Given the description of an element on the screen output the (x, y) to click on. 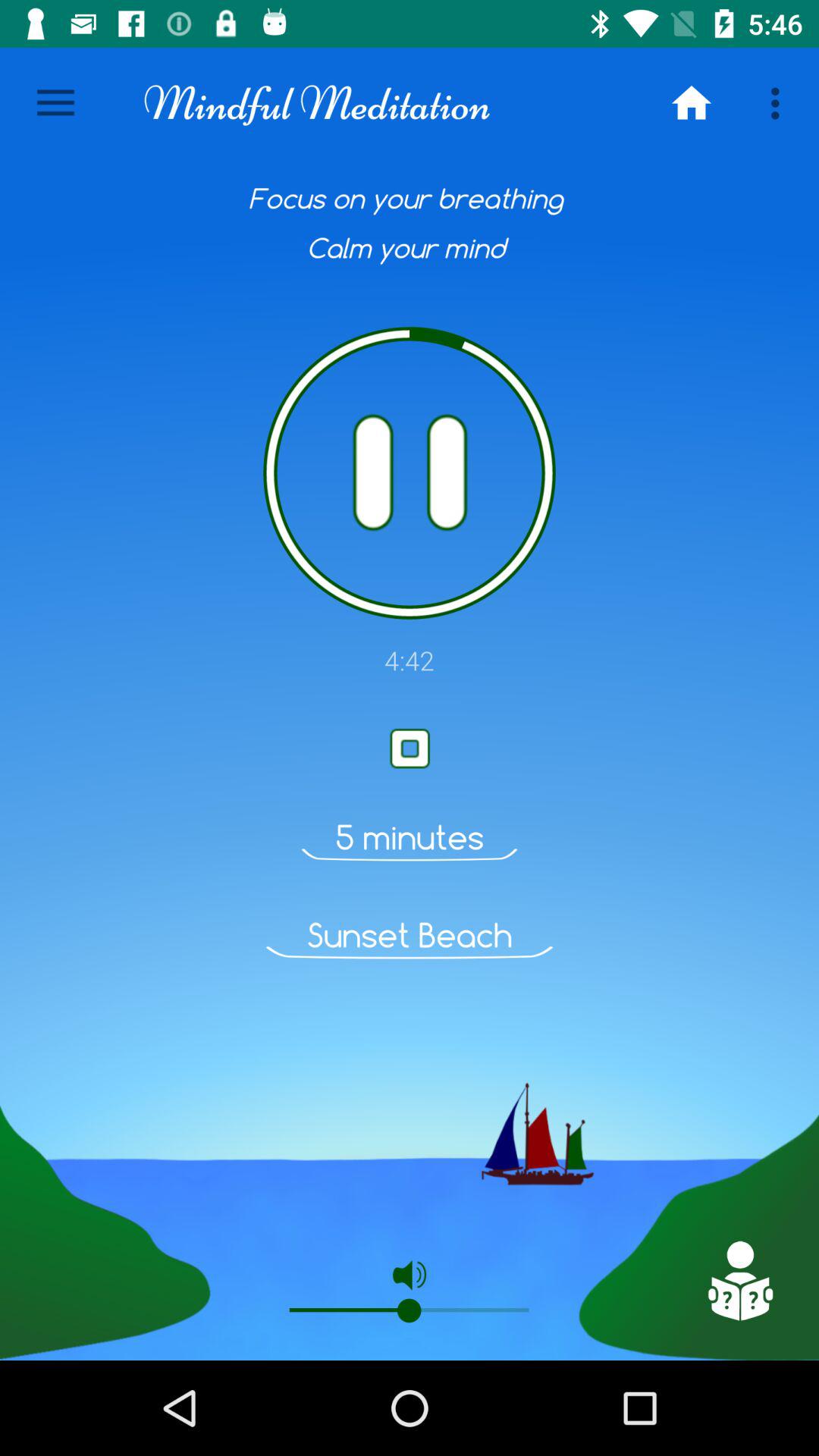
launch icon to the left of mindful meditation (55, 103)
